Given the description of an element on the screen output the (x, y) to click on. 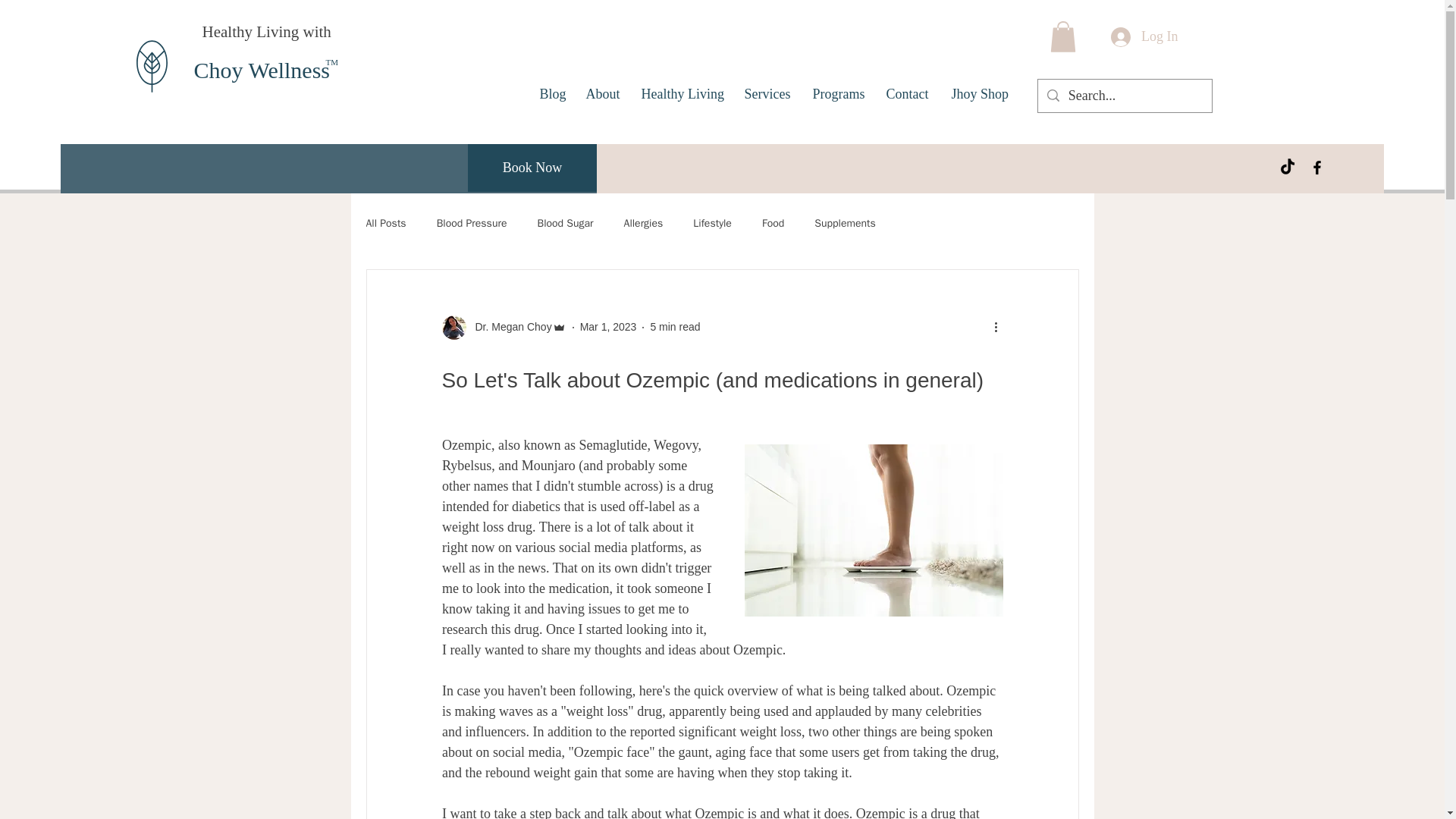
About (602, 94)
Programs (837, 94)
TM (332, 61)
Choy Wellness (261, 69)
Jhoy Shop (980, 94)
Services (766, 94)
5 min read (674, 326)
Dr. Megan Choy (508, 326)
Lifestyle (712, 223)
Allergies (643, 223)
Log In (1144, 36)
Contact (907, 94)
Supplements (844, 223)
Dr. Megan Choy (503, 327)
Blood Sugar (564, 223)
